Given the description of an element on the screen output the (x, y) to click on. 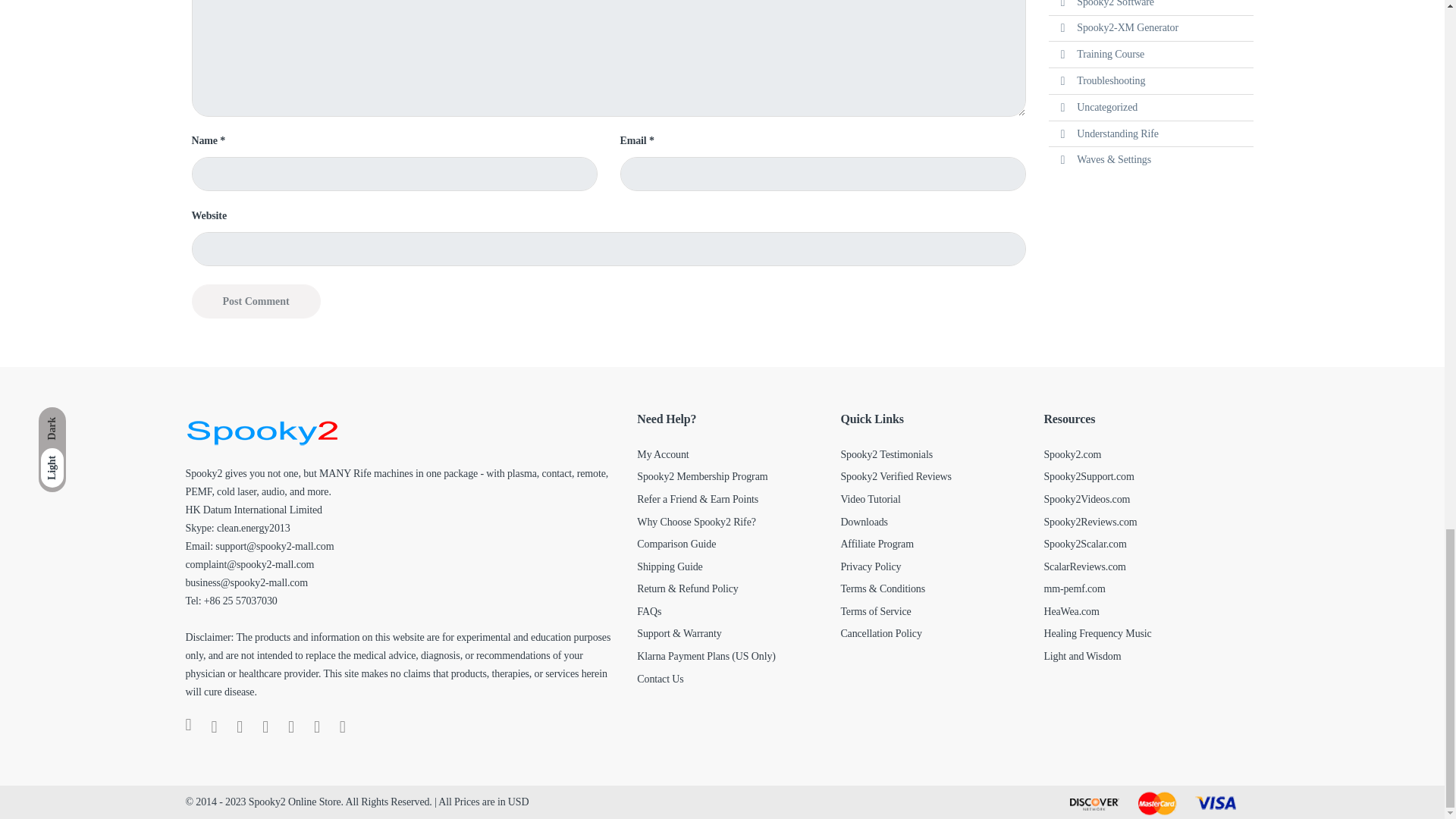
Post Comment (255, 301)
